Given the description of an element on the screen output the (x, y) to click on. 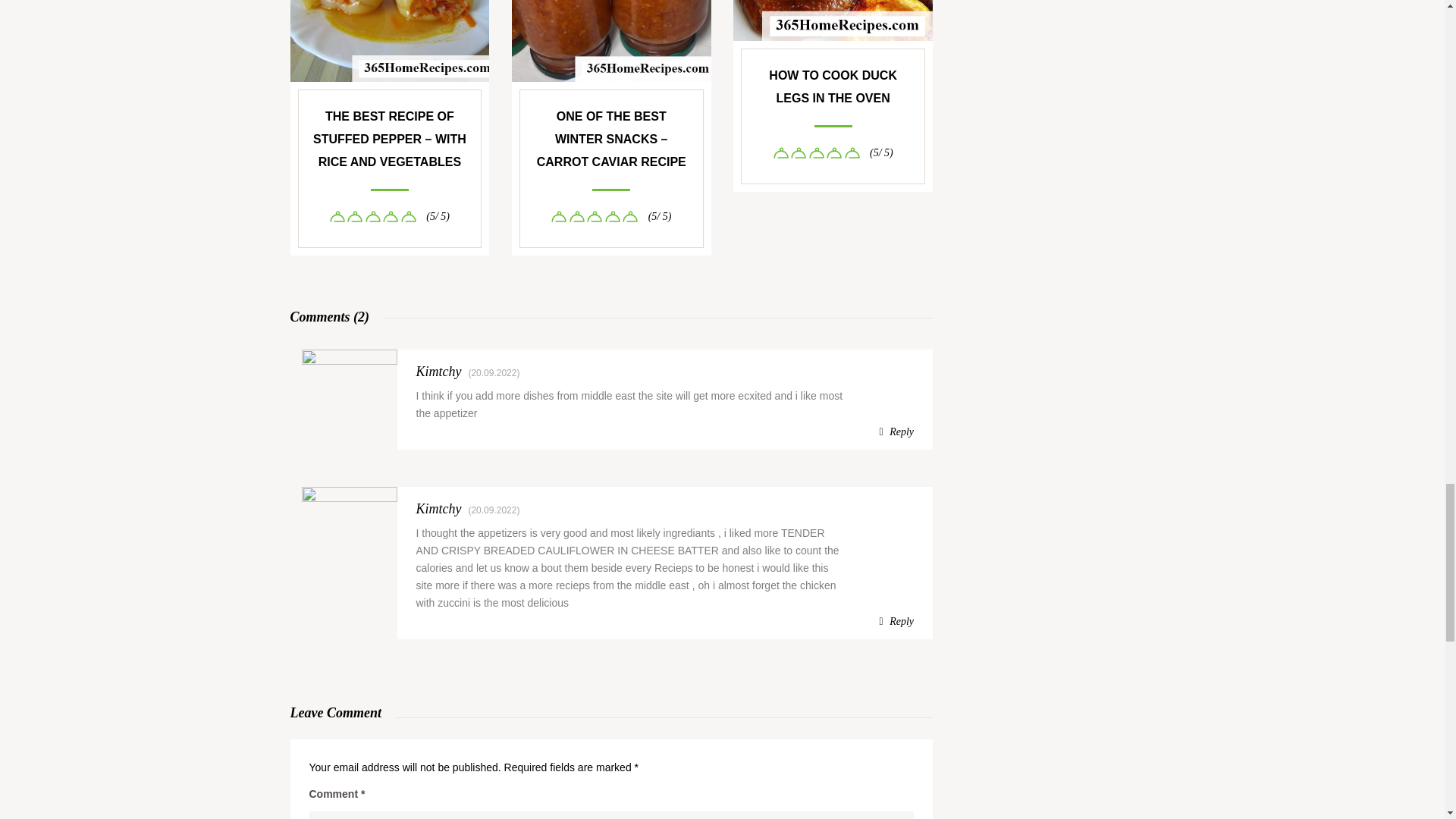
HOW TO COOK DUCK LEGS IN THE OVEN (833, 86)
Reply (896, 432)
Reply (896, 621)
